Given the description of an element on the screen output the (x, y) to click on. 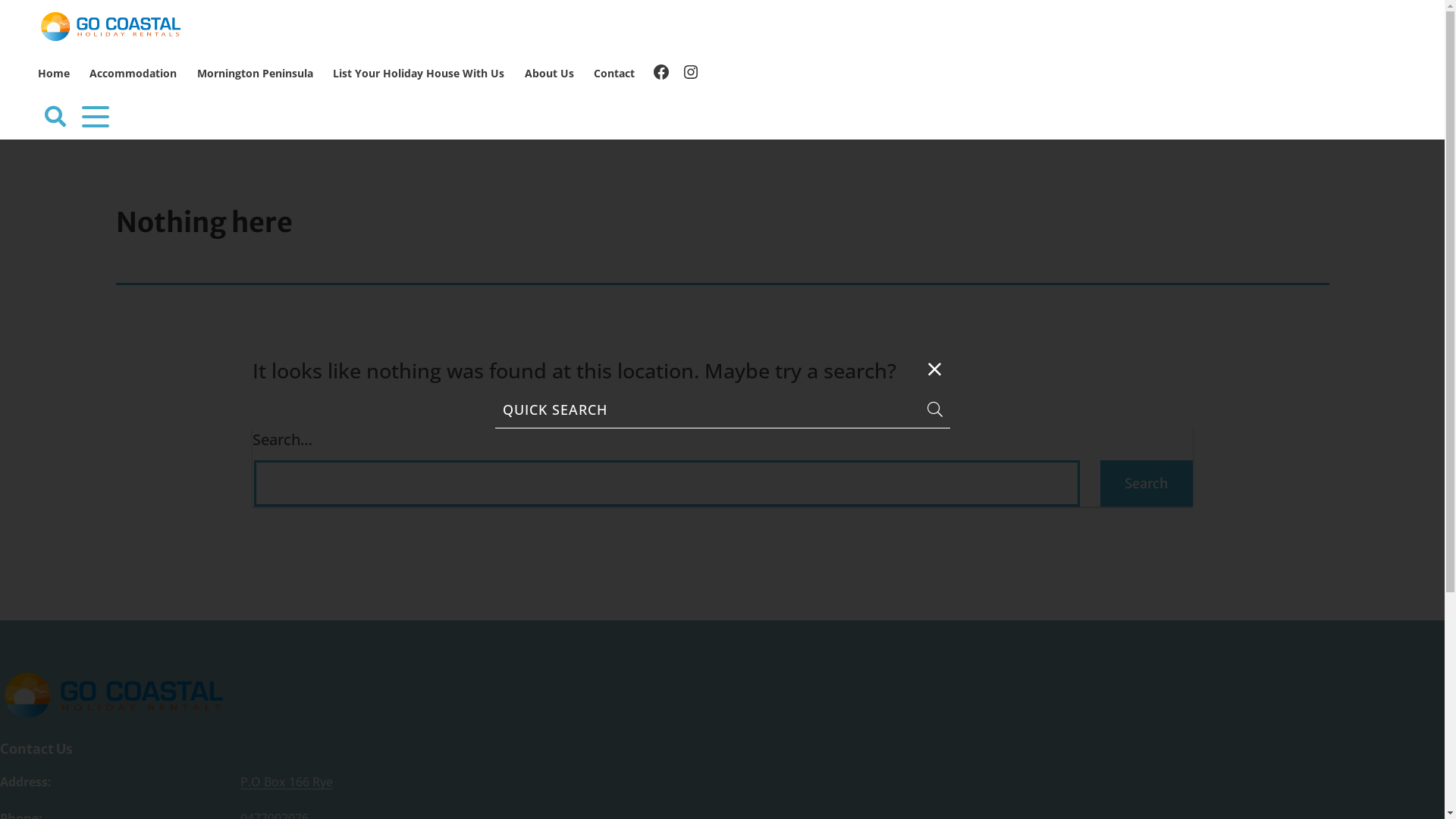
Home Element type: text (53, 73)
P.O Box 166 Rye Element type: text (286, 781)
Accommodation Element type: text (132, 73)
Facebook Element type: text (661, 73)
Search Element type: text (1145, 483)
Contact Element type: text (613, 73)
Instagram Element type: text (690, 73)
Mornington Peninsula Element type: text (255, 73)
List Your Holiday House With Us Element type: text (418, 73)
About Us Element type: text (548, 73)
